Given the description of an element on the screen output the (x, y) to click on. 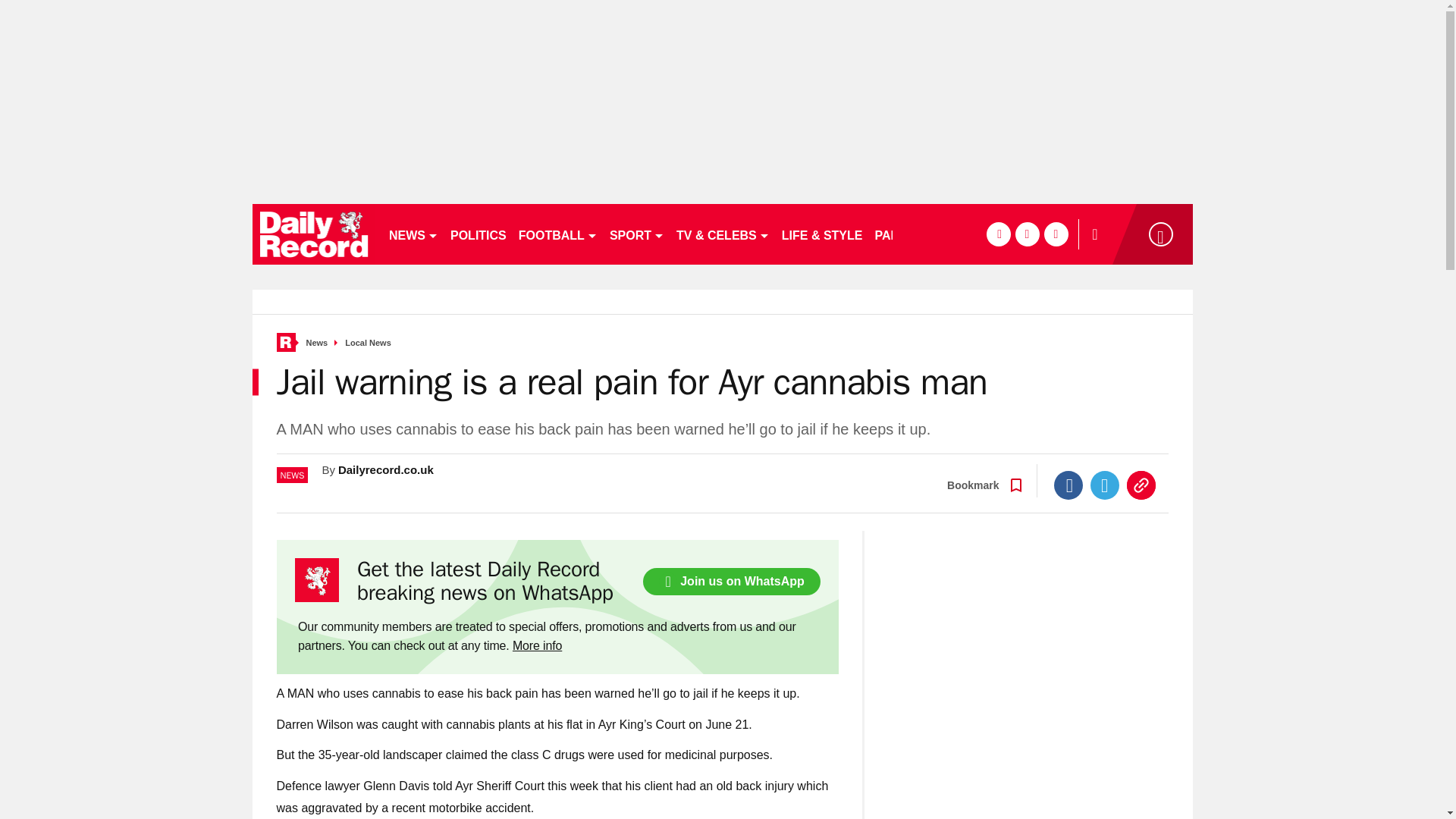
instagram (1055, 233)
Twitter (1104, 484)
POLITICS (478, 233)
FOOTBALL (558, 233)
twitter (1026, 233)
SPORT (636, 233)
Facebook (1068, 484)
facebook (997, 233)
NEWS (413, 233)
dailyrecord (313, 233)
